Given the description of an element on the screen output the (x, y) to click on. 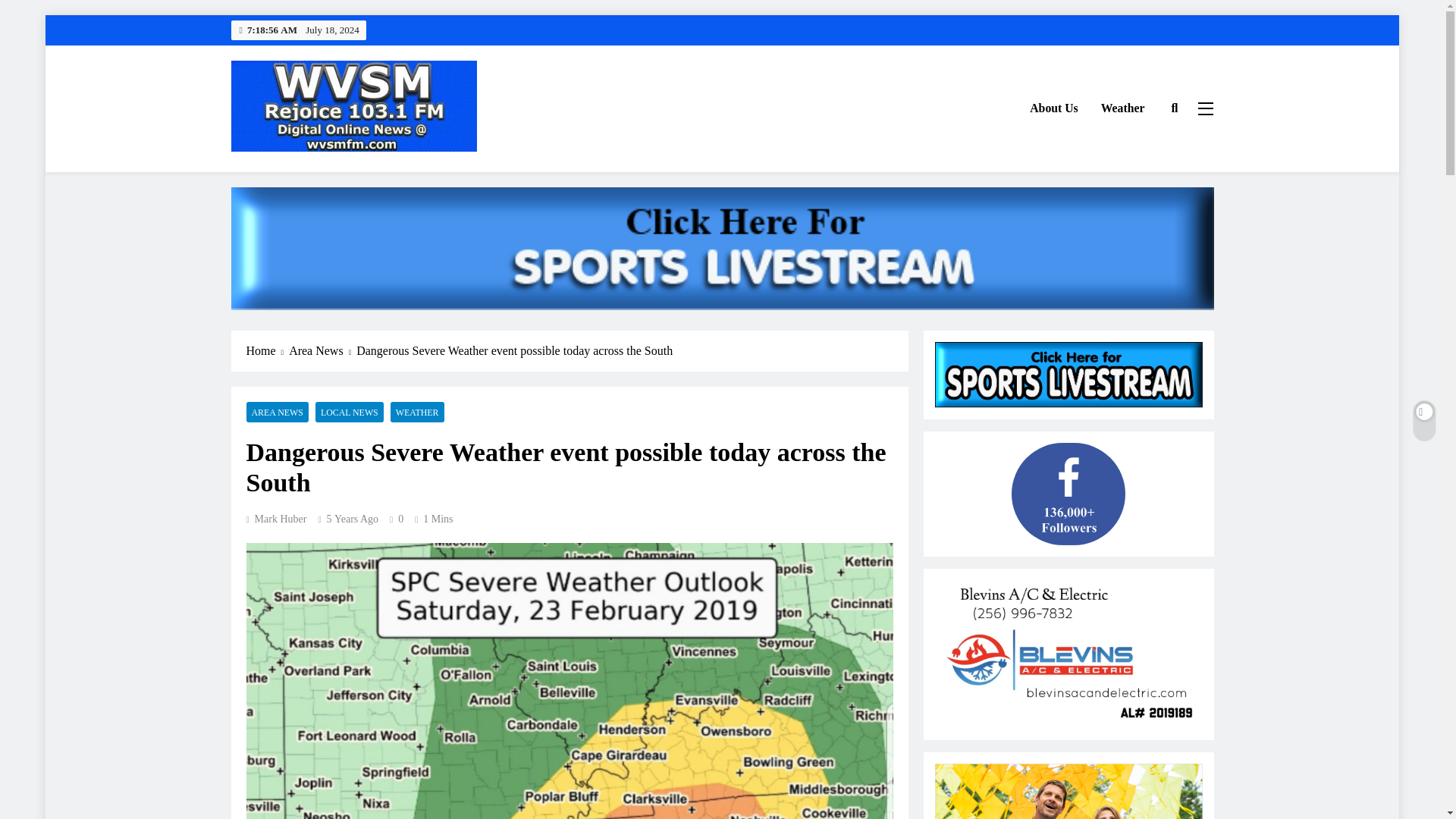
WEATHER (417, 412)
WVSM Digital Online News (368, 173)
LOCAL NEWS (349, 412)
Mark Huber (275, 518)
5 Years Ago (352, 518)
Weather (1122, 107)
AREA NEWS (276, 412)
About Us (1053, 107)
Home (267, 351)
Area News (322, 351)
